Given the description of an element on the screen output the (x, y) to click on. 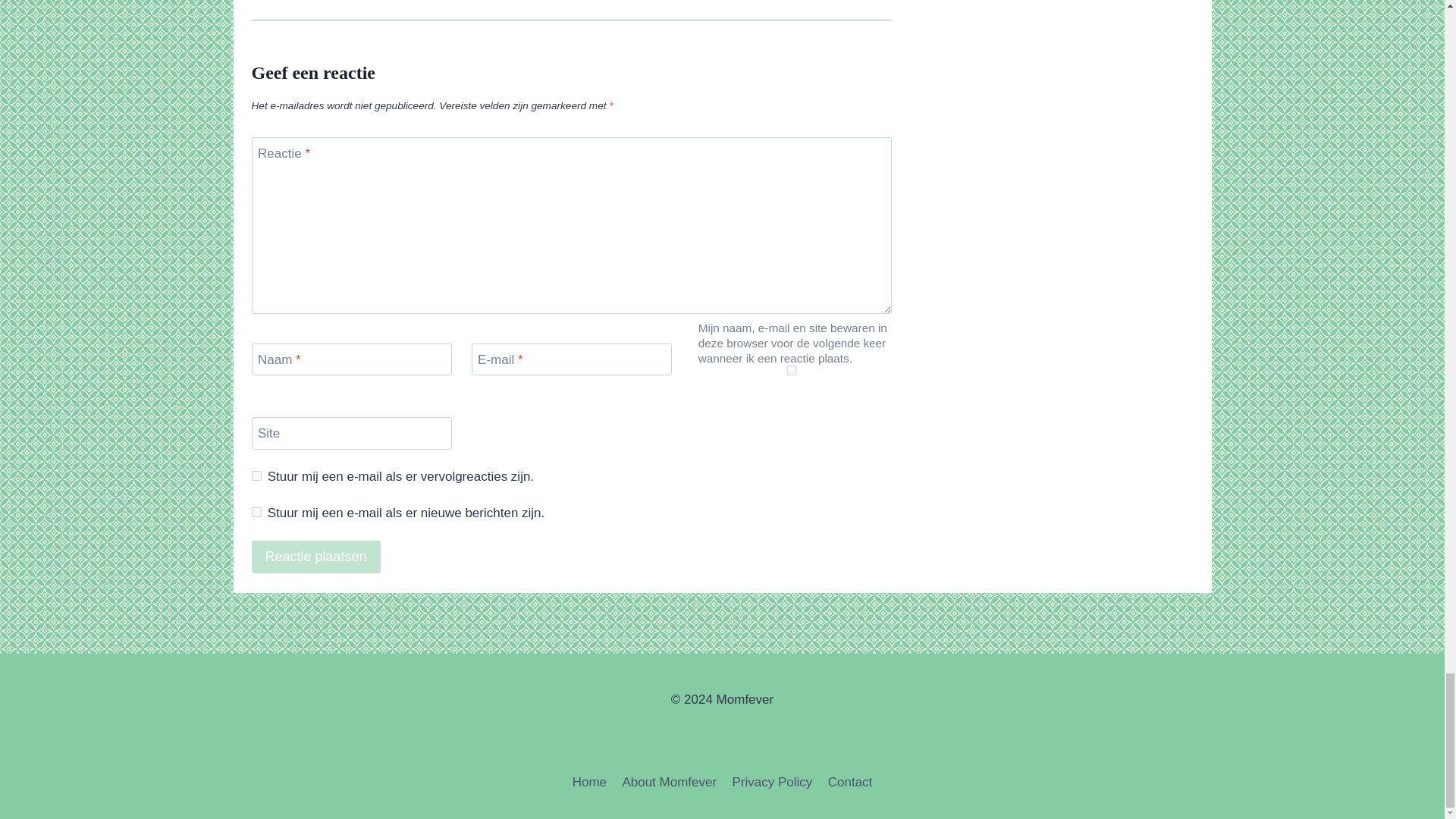
subscribe (256, 475)
yes (791, 370)
Reactie plaatsen (315, 556)
subscribe (256, 511)
